Given the description of an element on the screen output the (x, y) to click on. 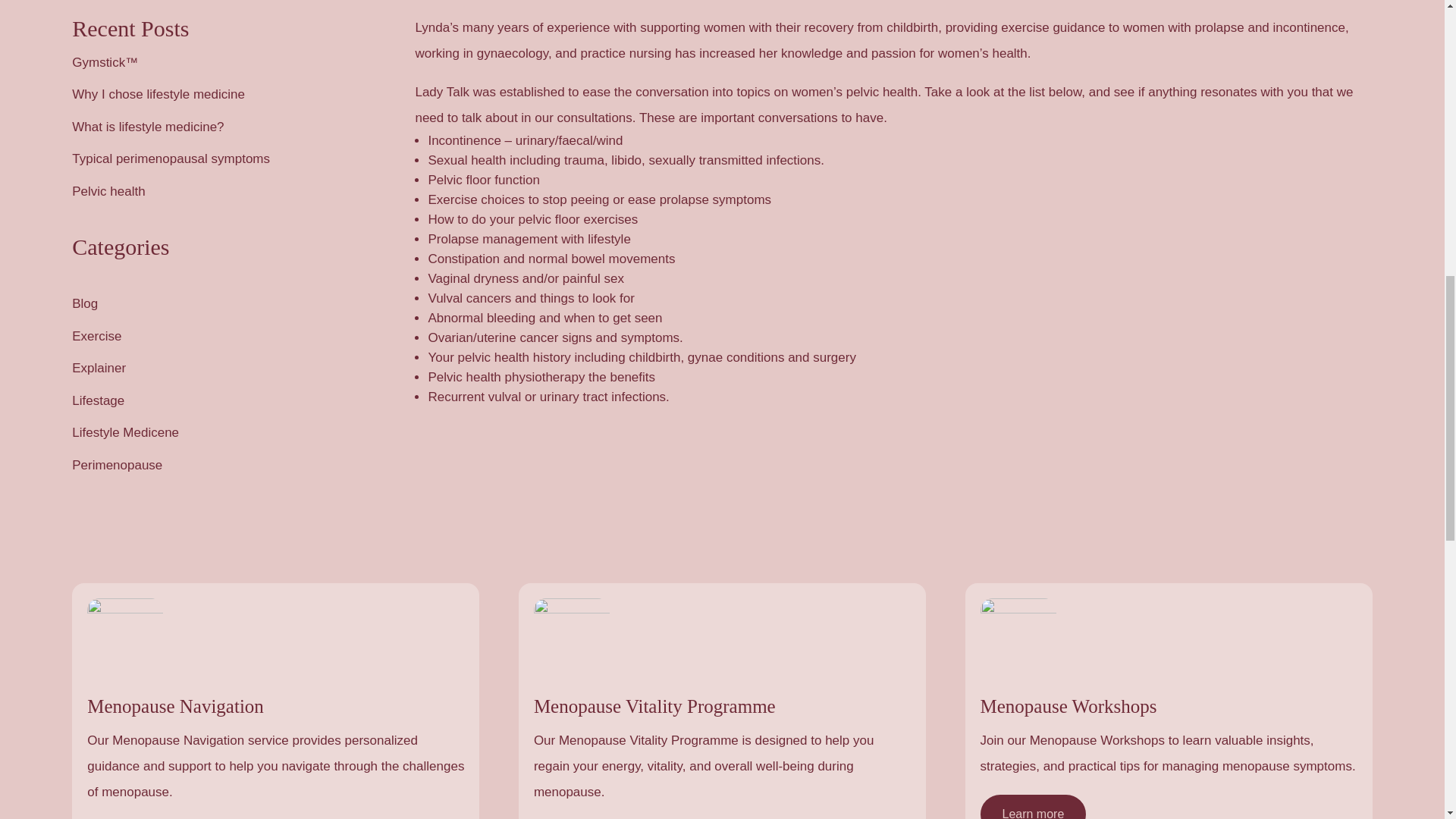
Lifestyle Medicene (125, 432)
Lifestage (97, 400)
What is lifestyle medicine? (147, 126)
3542da6caf324607f628bcb2026fc5ae (572, 636)
Blog (84, 303)
Typical perimenopausal symptoms (170, 158)
Learn more (1032, 806)
f23bd395db66195810676003766bc94c (1017, 636)
Pelvic health (107, 191)
f535ef43967d90d5fc77f9ceefe0b38f (125, 636)
